Given the description of an element on the screen output the (x, y) to click on. 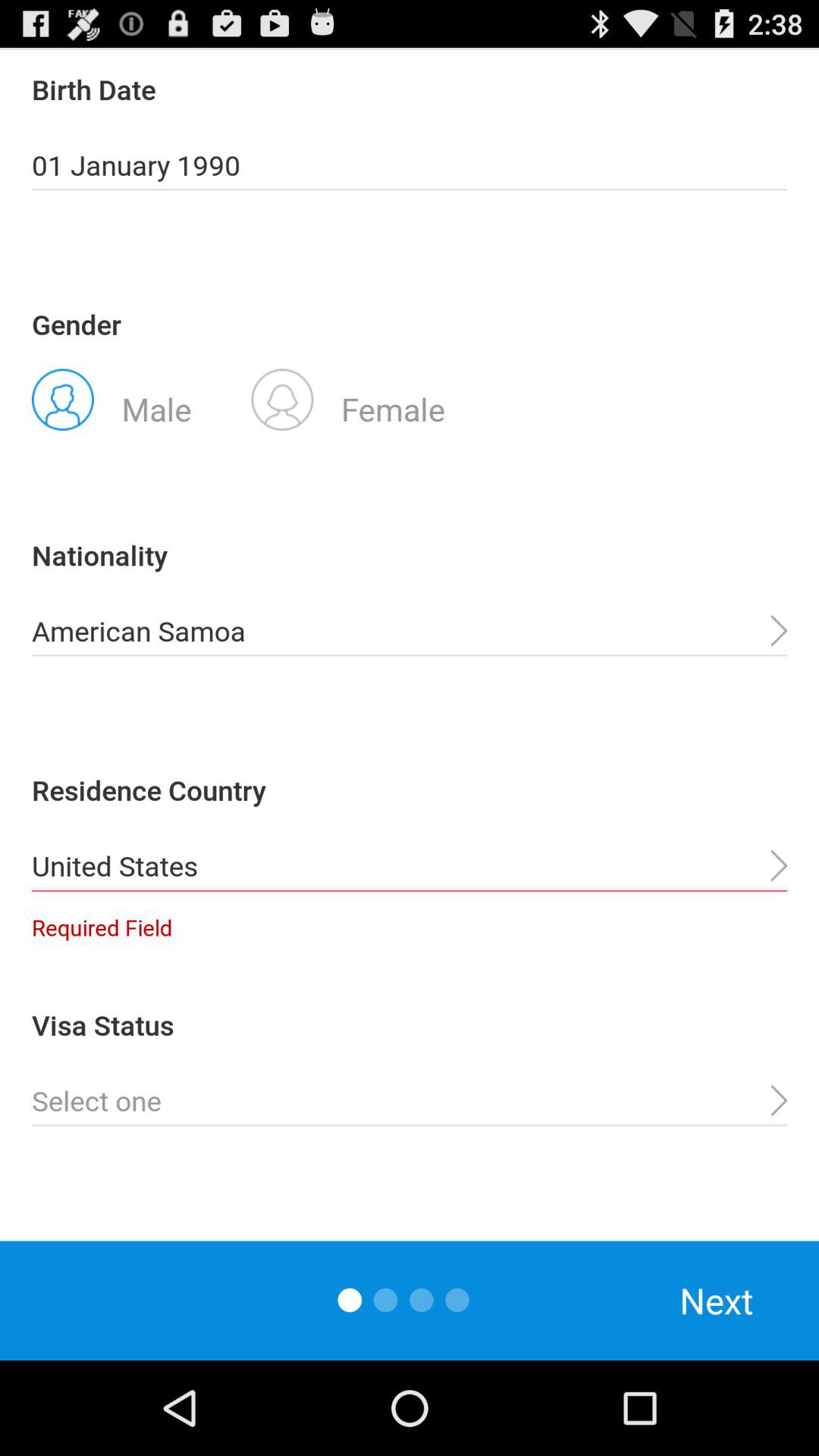
open pull down menu (409, 1101)
